Given the description of an element on the screen output the (x, y) to click on. 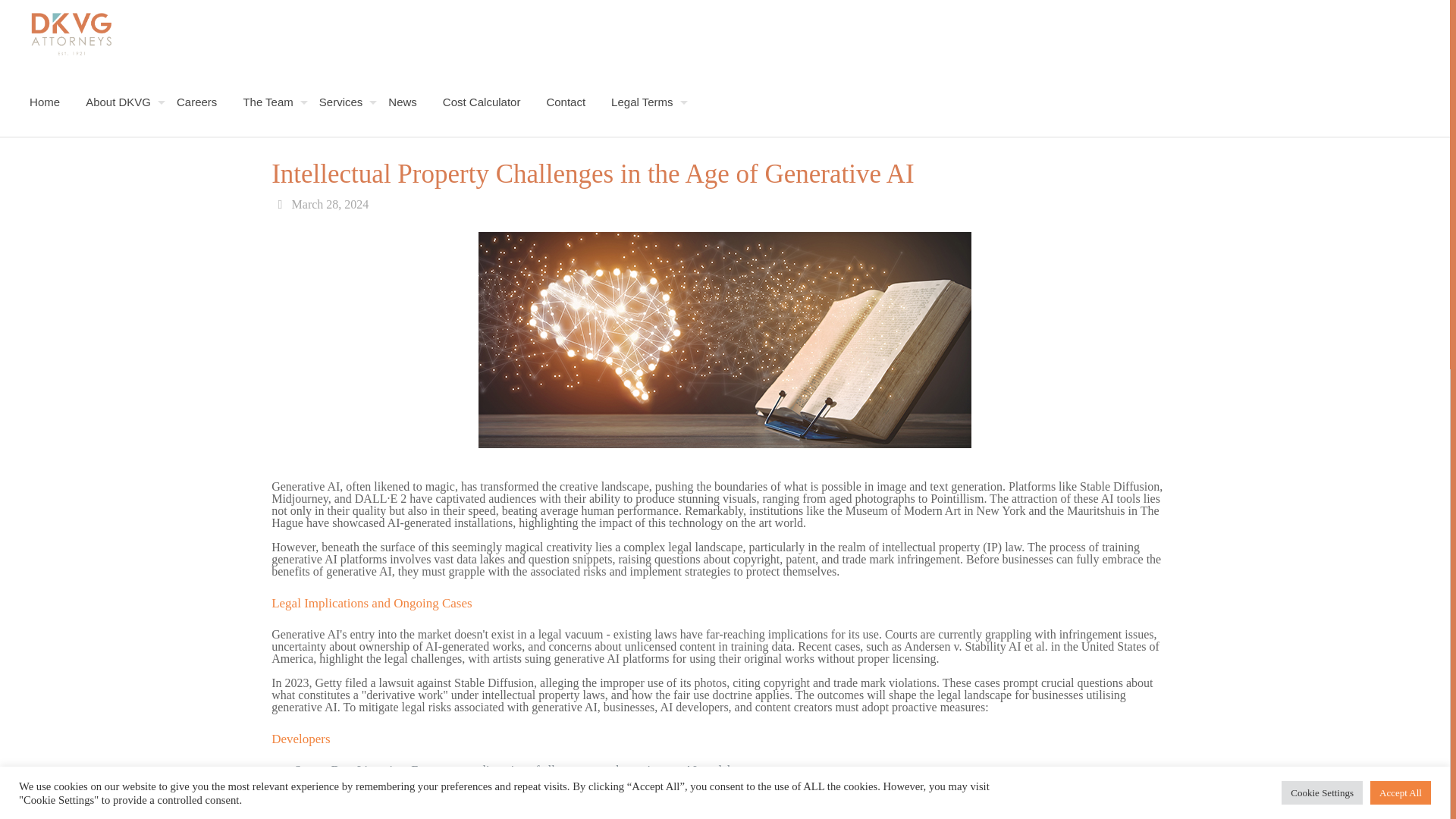
Careers (194, 101)
Home (41, 101)
News (400, 101)
Contact (563, 101)
The Team (264, 101)
Services (339, 101)
About DKVG (115, 101)
DKVG Attorneys (71, 33)
Cost Calculator (479, 101)
Legal Terms (638, 101)
